Given the description of an element on the screen output the (x, y) to click on. 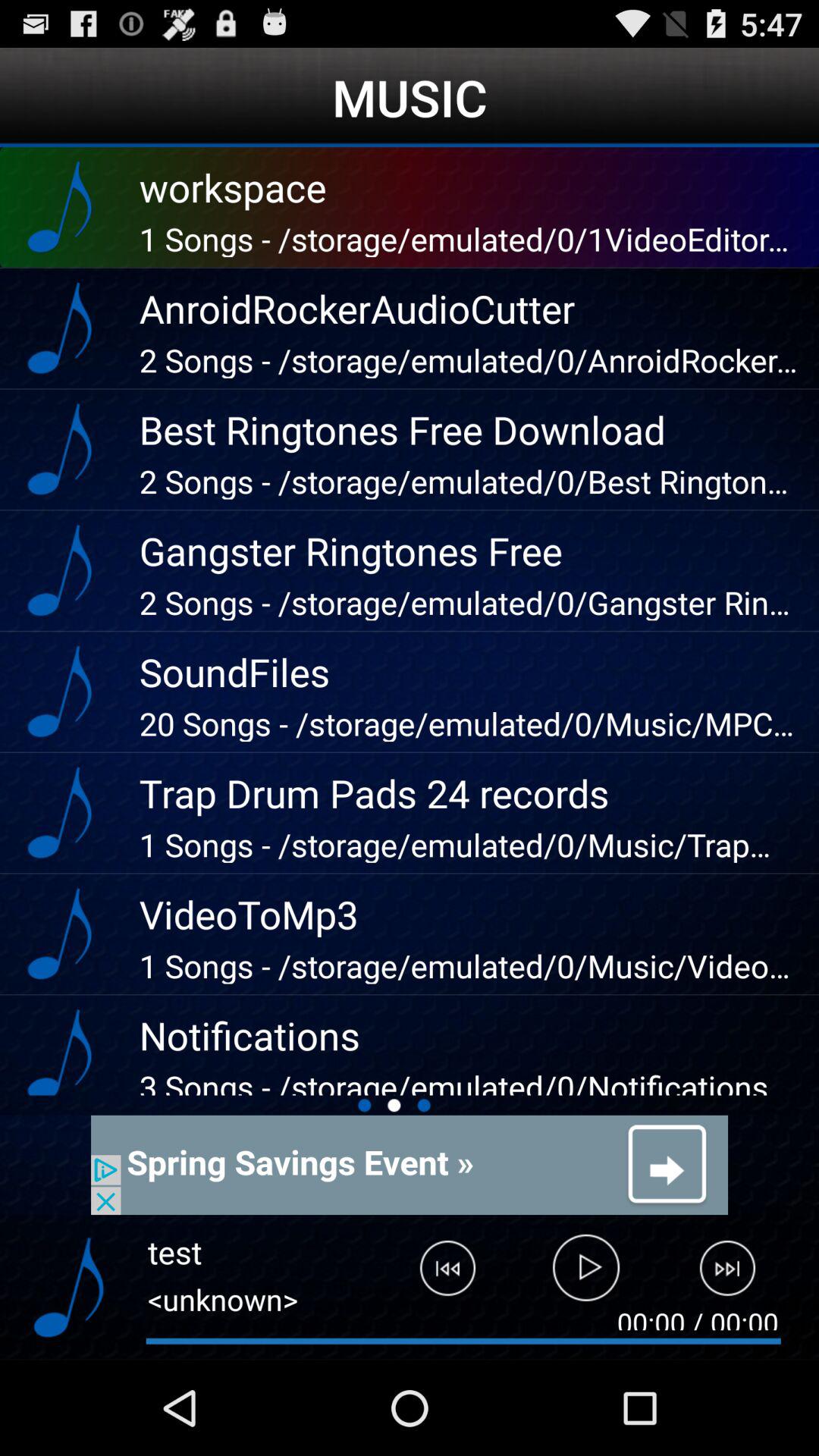
play (586, 1274)
